Given the description of an element on the screen output the (x, y) to click on. 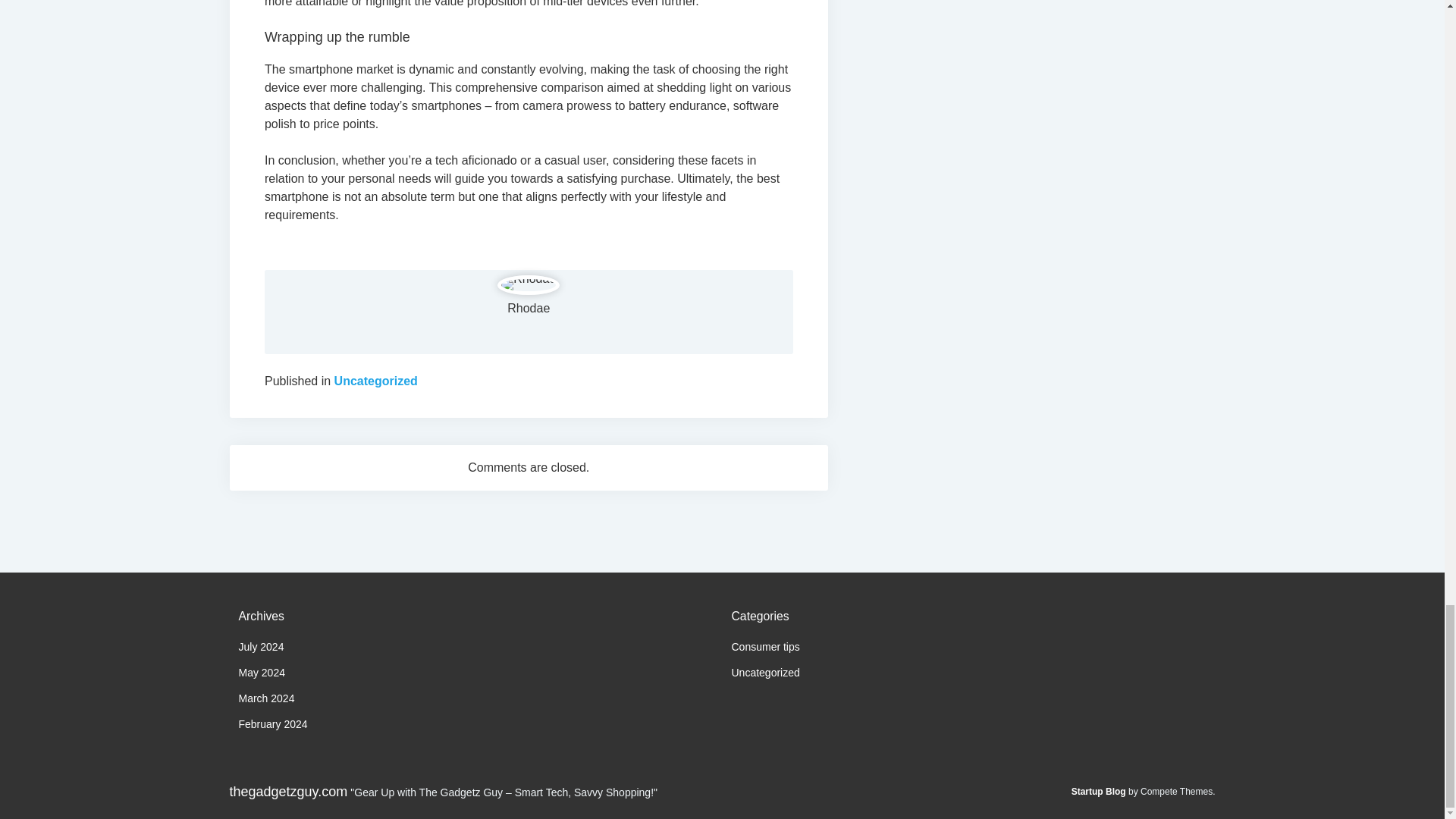
July 2024 (260, 646)
Consumer tips (764, 646)
Uncategorized (764, 672)
May 2024 (260, 672)
March 2024 (266, 698)
February 2024 (272, 724)
Rhodae (528, 308)
Uncategorized (375, 380)
Startup Blog (1098, 791)
View all posts in Uncategorized (375, 380)
thegadgetzguy.com (287, 791)
